Given the description of an element on the screen output the (x, y) to click on. 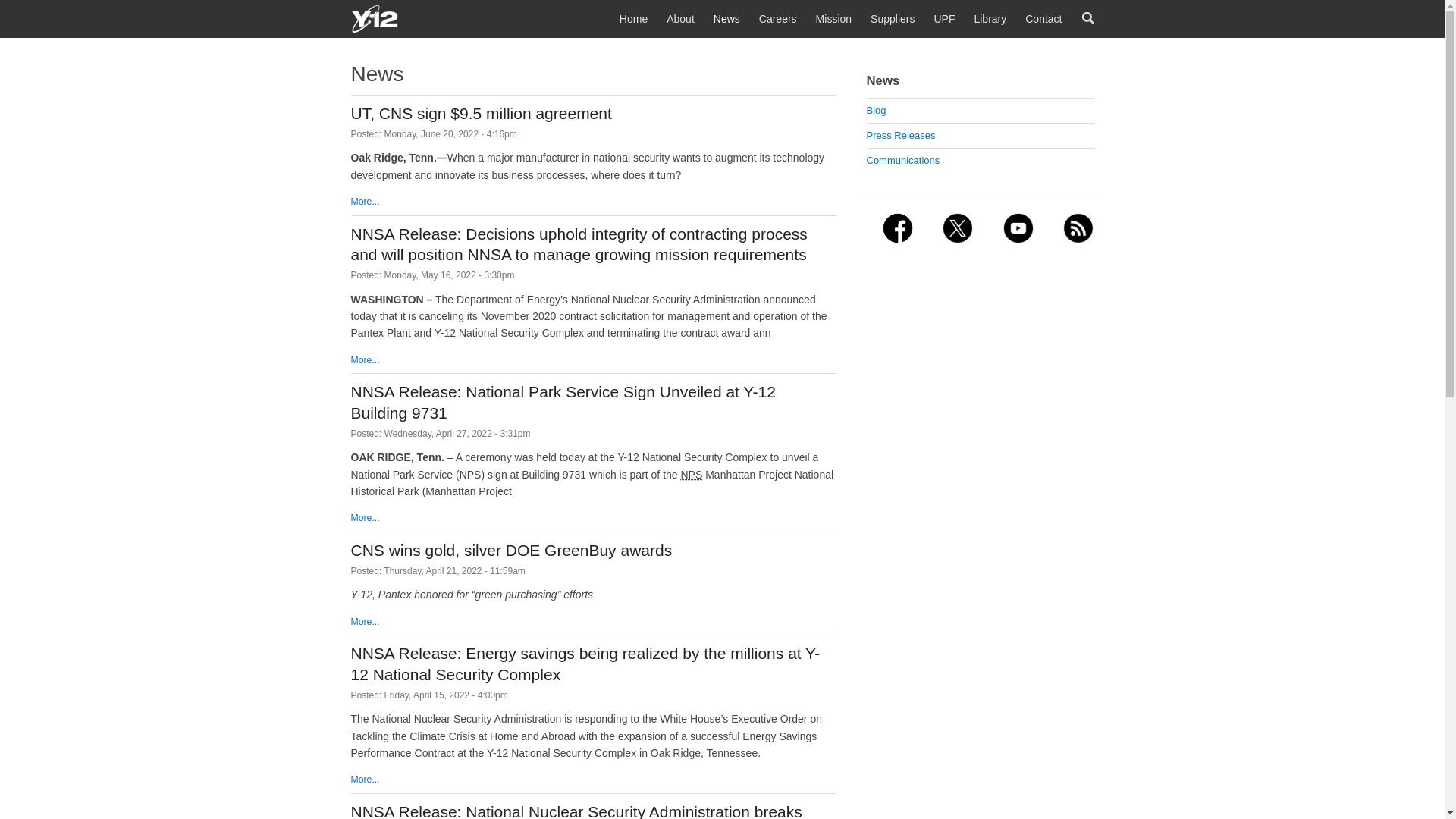
CNS wins gold, silver DOE GreenBuy awards (510, 549)
Home (721, 17)
More... (364, 201)
More... (364, 359)
Mission (833, 18)
Suppliers (892, 18)
Contact Us (1043, 18)
Careers (777, 18)
More... (364, 778)
Suppliers (892, 18)
National Park Service (692, 474)
Search (1087, 17)
